Given the description of an element on the screen output the (x, y) to click on. 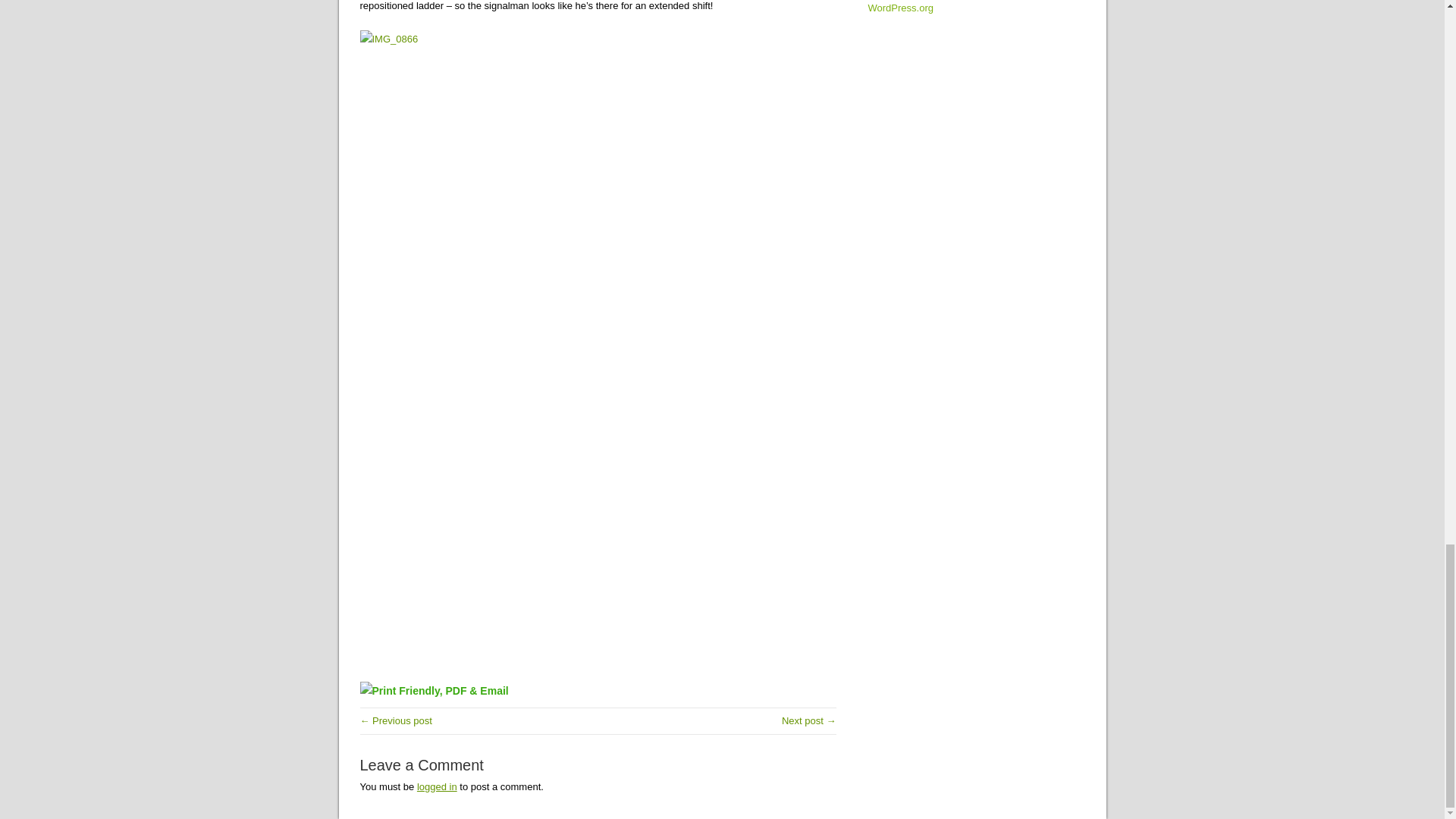
logged in (436, 786)
Switching on the swinger (808, 720)
Bridge over the River Lyfni (394, 720)
